Given the description of an element on the screen output the (x, y) to click on. 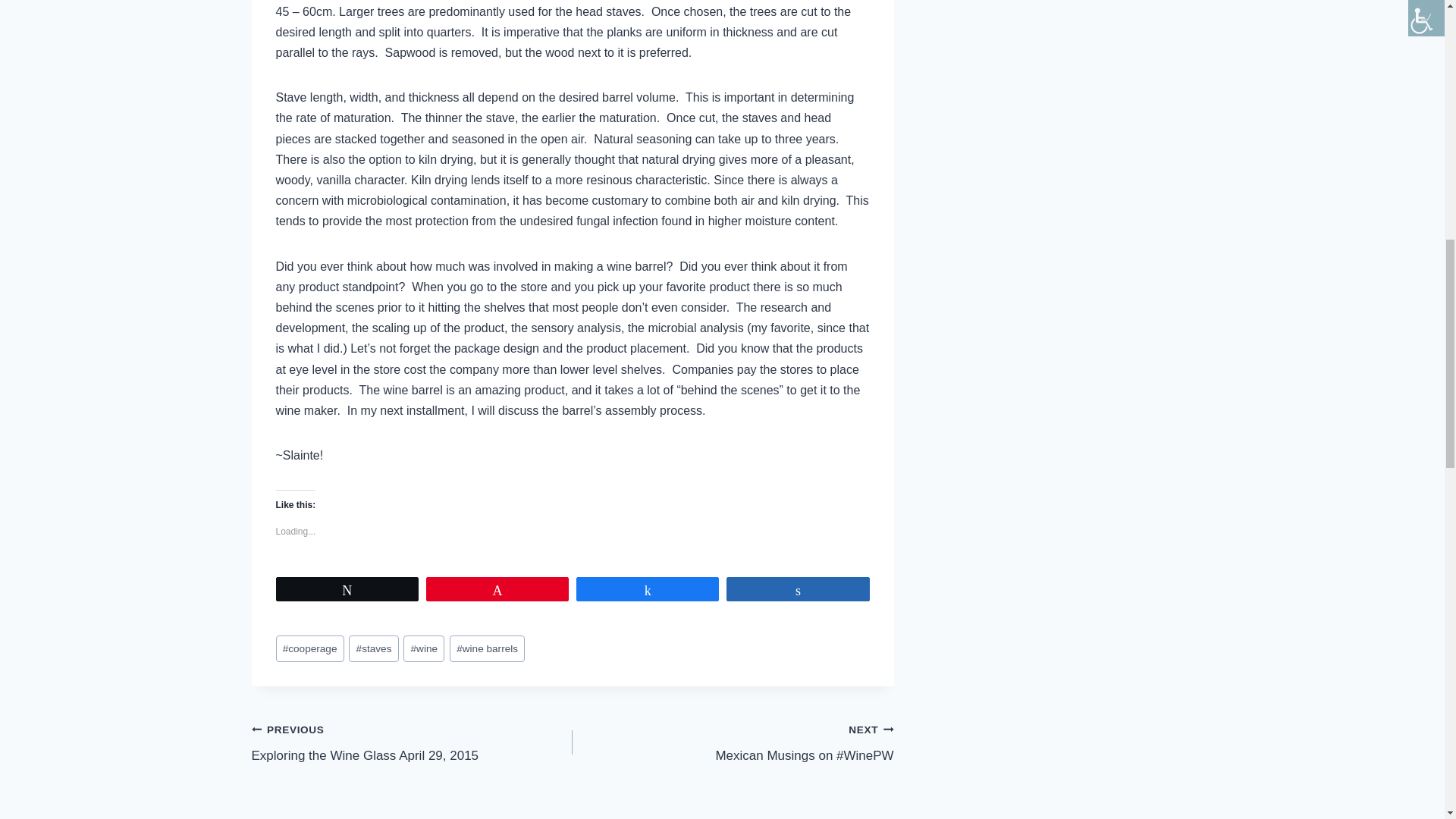
wine (423, 648)
cooperage (309, 648)
staves (373, 648)
wine barrels (486, 648)
